Given the description of an element on the screen output the (x, y) to click on. 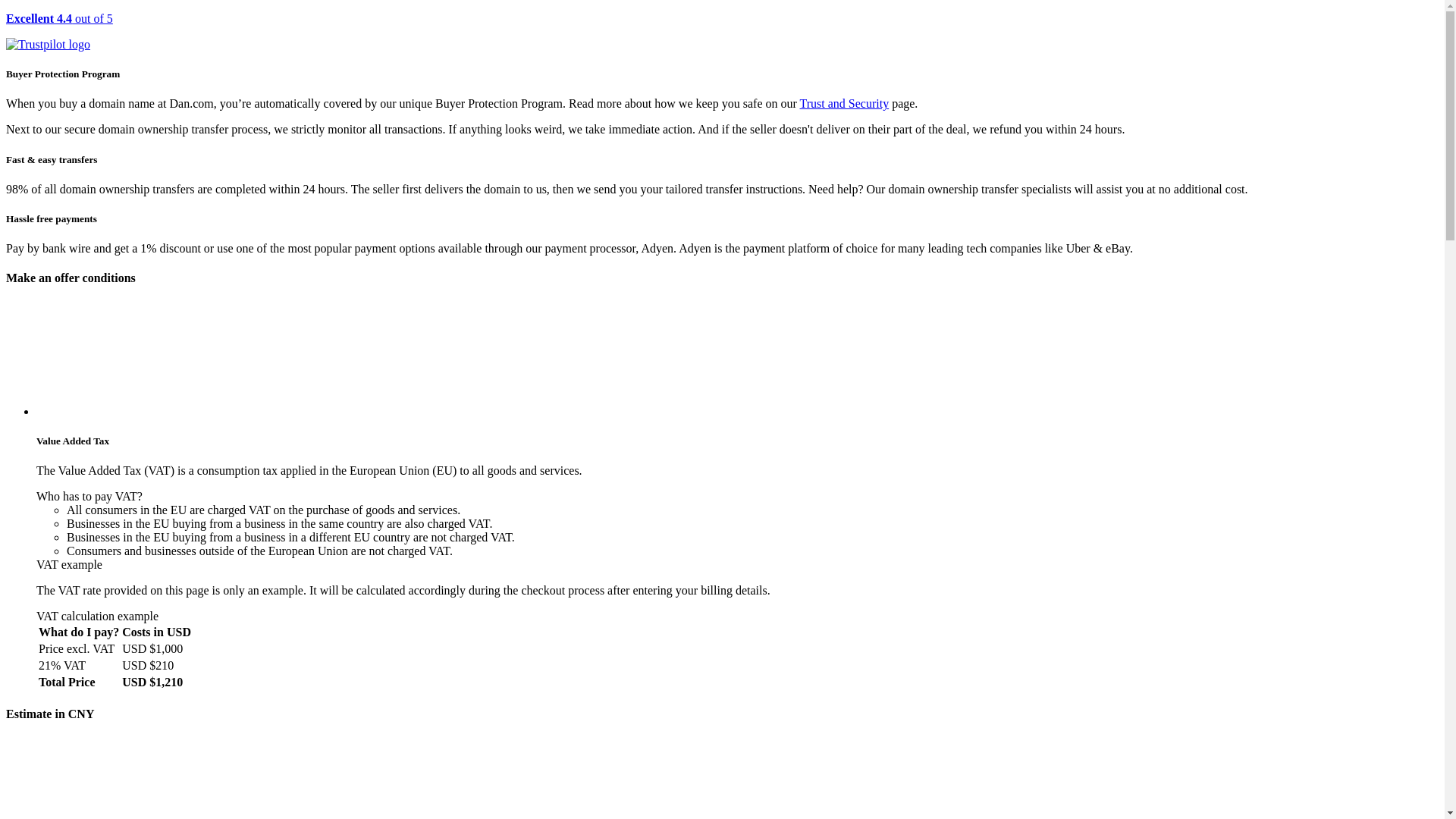
Excellent 4.4 out of 5 Element type: text (722, 31)
Trust and Security Element type: text (844, 103)
